Given the description of an element on the screen output the (x, y) to click on. 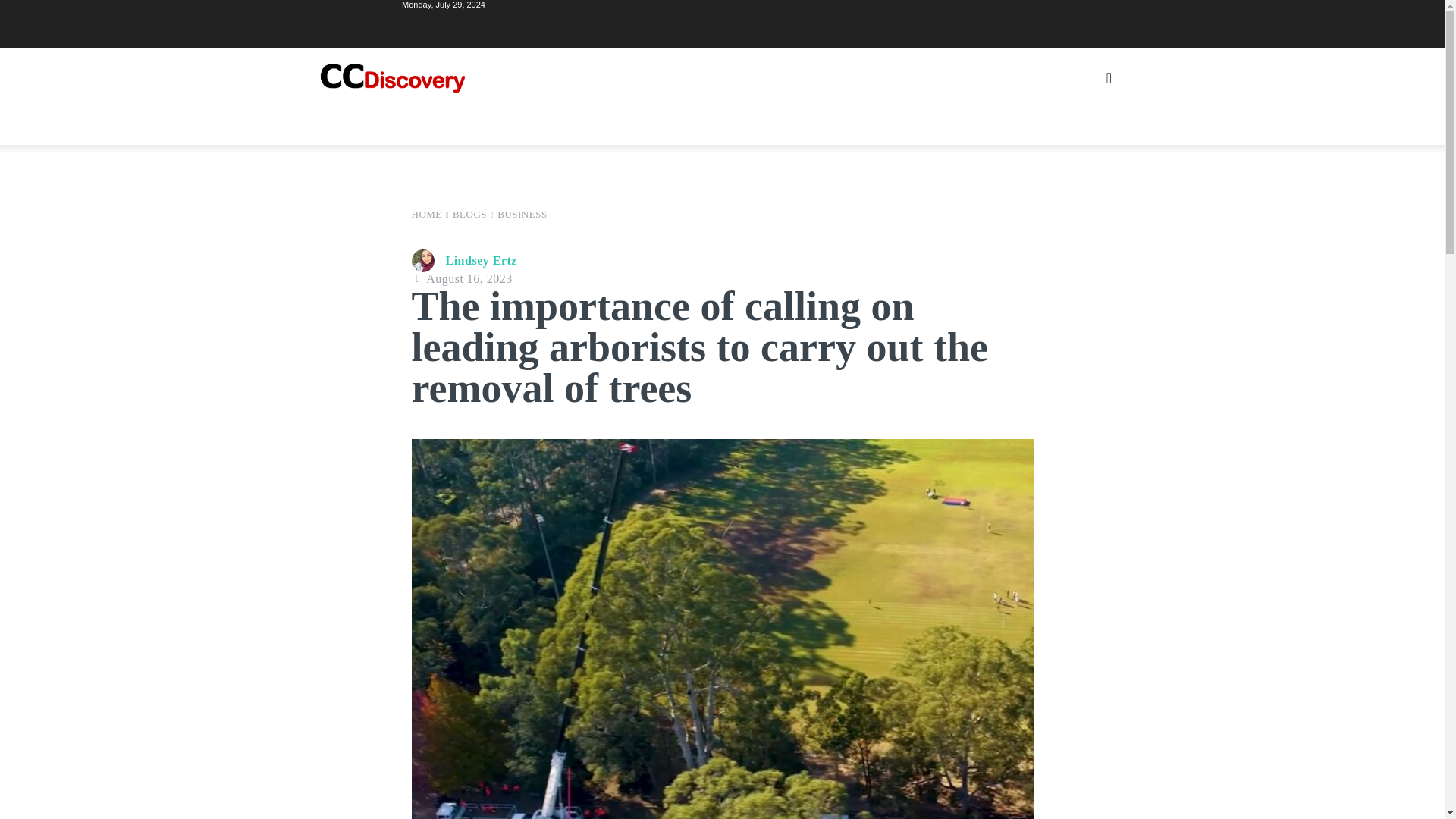
View all posts in Blogs (469, 214)
Lindsey Ertz (425, 260)
View all posts in Business (522, 214)
